Given the description of an element on the screen output the (x, y) to click on. 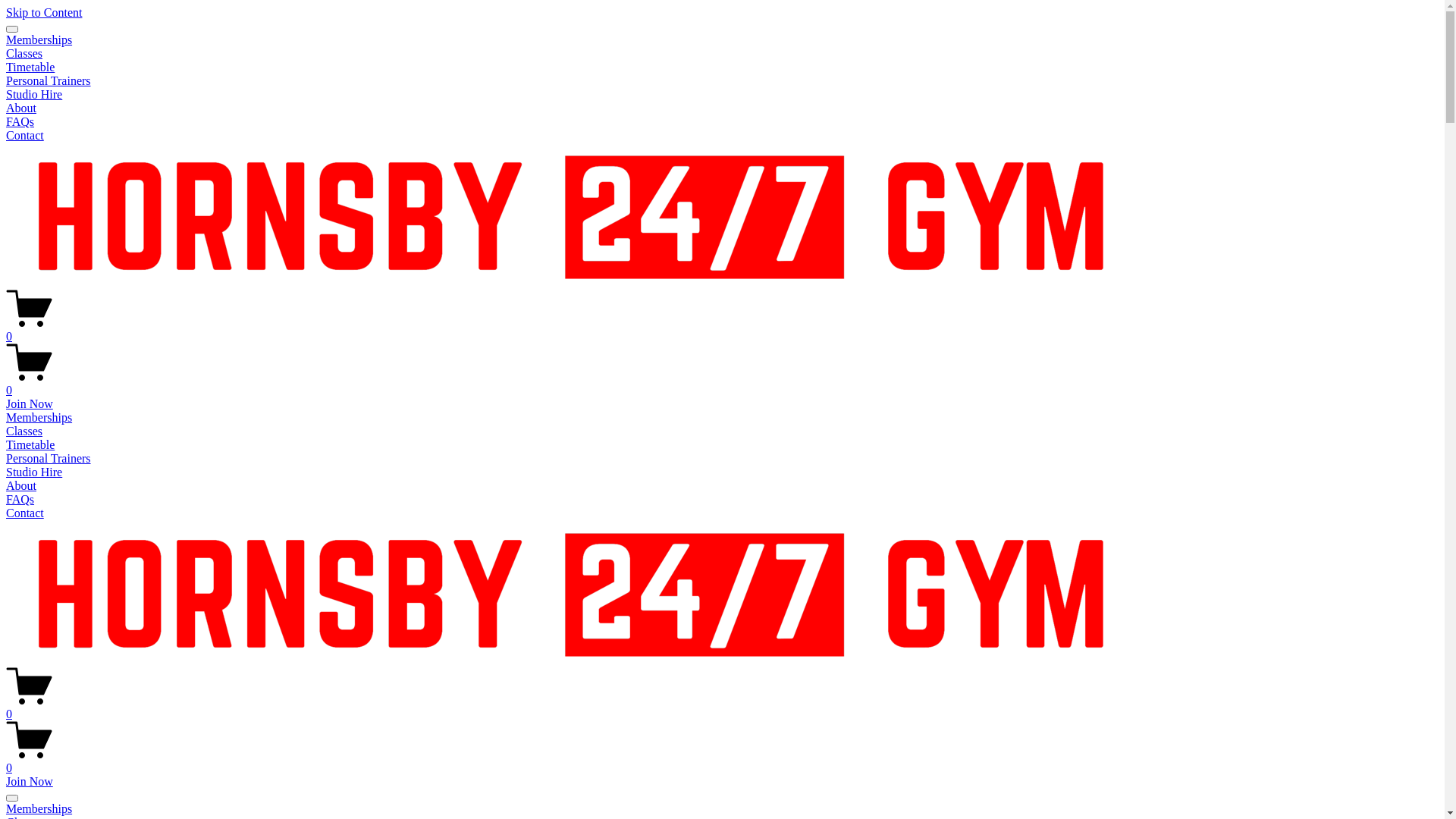
Join Now Element type: text (29, 781)
Studio Hire Element type: text (34, 93)
Timetable Element type: text (30, 444)
Skip to Content Element type: text (43, 12)
About Element type: text (21, 107)
Personal Trainers Element type: text (48, 80)
Memberships Element type: text (39, 39)
0 Element type: text (722, 329)
Studio Hire Element type: text (34, 471)
Personal Trainers Element type: text (48, 457)
Memberships Element type: text (39, 417)
Classes Element type: text (24, 430)
FAQs Element type: text (20, 121)
Join Now Element type: text (29, 403)
Timetable Element type: text (30, 66)
About Element type: text (21, 485)
0 Element type: text (722, 707)
Classes Element type: text (24, 53)
Contact Element type: text (24, 134)
FAQs Element type: text (20, 498)
Contact Element type: text (24, 512)
0 Element type: text (722, 761)
0 Element type: text (722, 383)
Memberships Element type: text (722, 808)
